Given the description of an element on the screen output the (x, y) to click on. 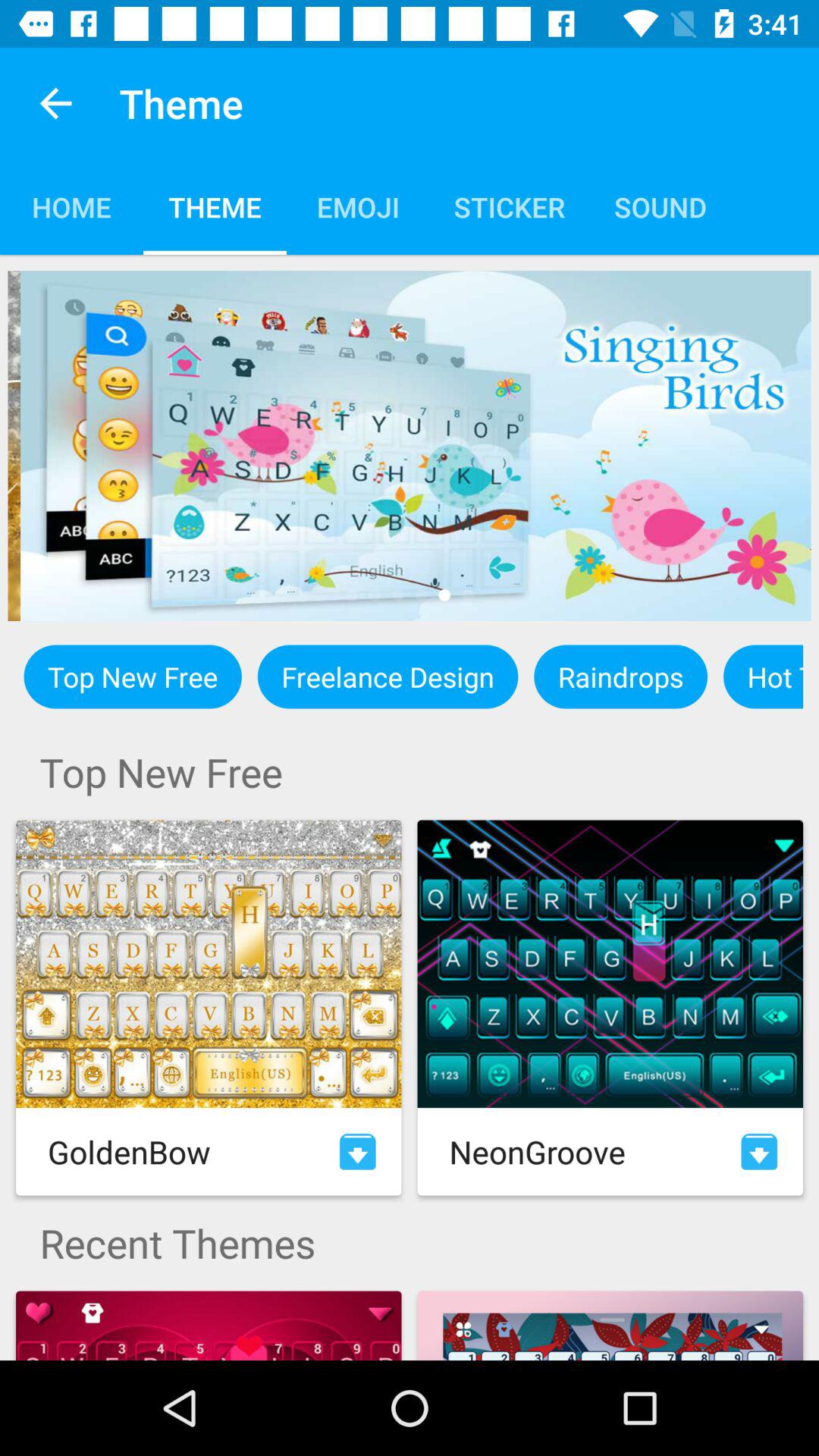
click icon to the right of the raindrops (763, 676)
